Given the description of an element on the screen output the (x, y) to click on. 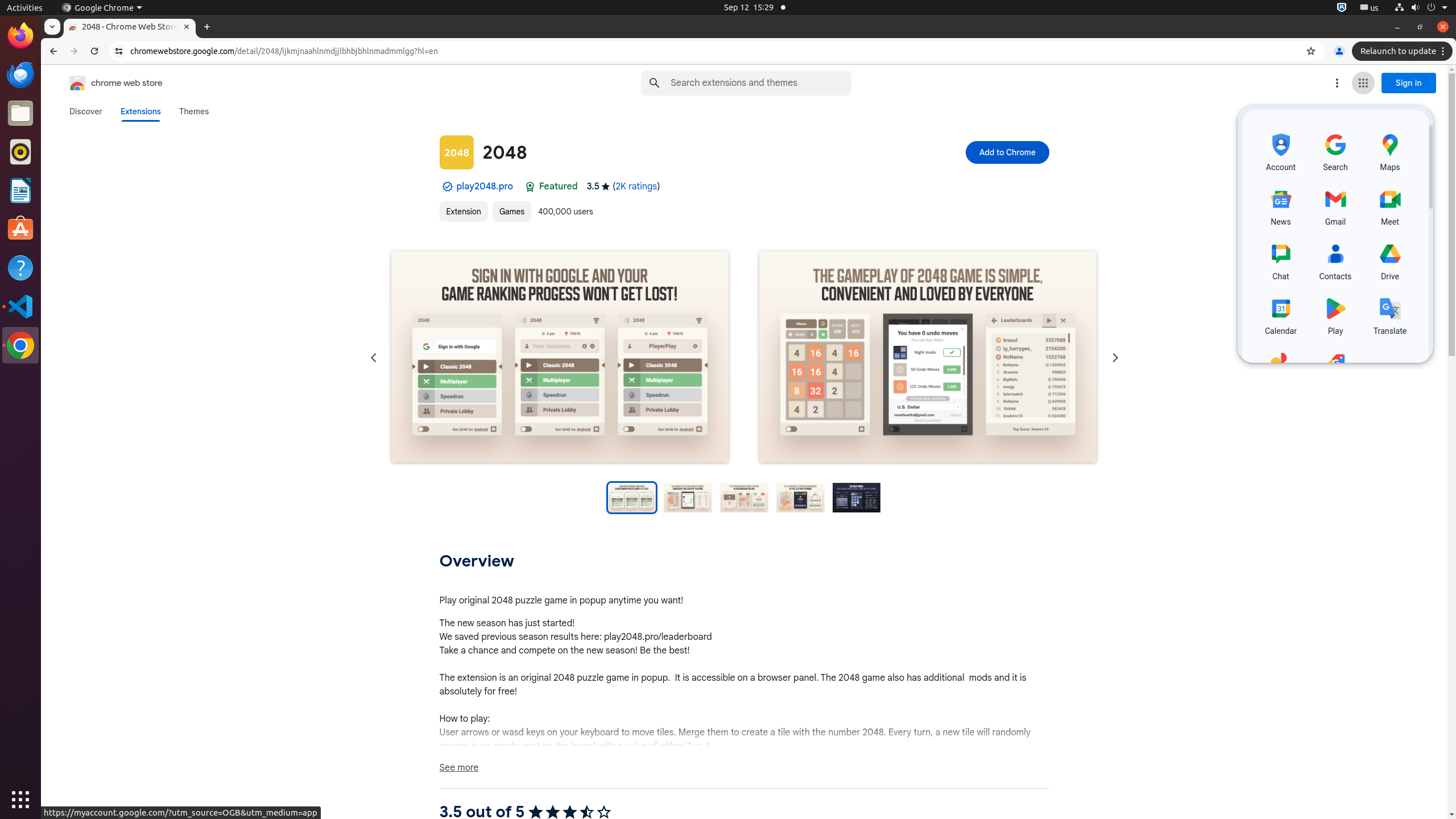
LibreOffice Writer Element type: push-button (20, 190)
Help Element type: push-button (20, 267)
Play, row 4 of 5 and column 2 of 3 in the first section (opens a new tab) Element type: link (1335, 314)
Games Element type: link (511, 211)
Chat, row 3 of 5 and column 1 of 3 in the first section (opens a new tab) Element type: link (1280, 259)
